Given the description of an element on the screen output the (x, y) to click on. 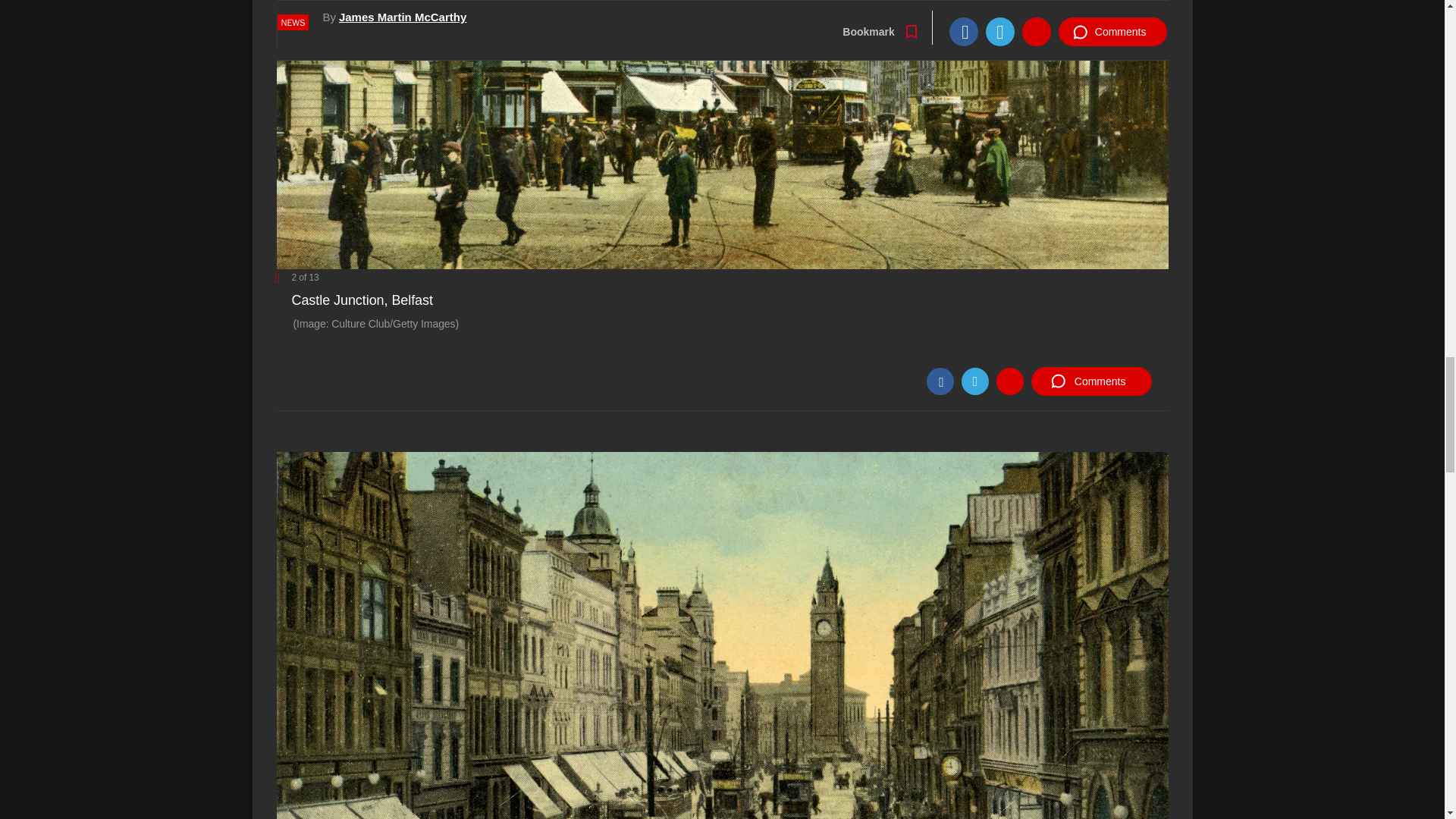
Comments (1090, 380)
Twitter (974, 380)
Facebook (939, 380)
